Given the description of an element on the screen output the (x, y) to click on. 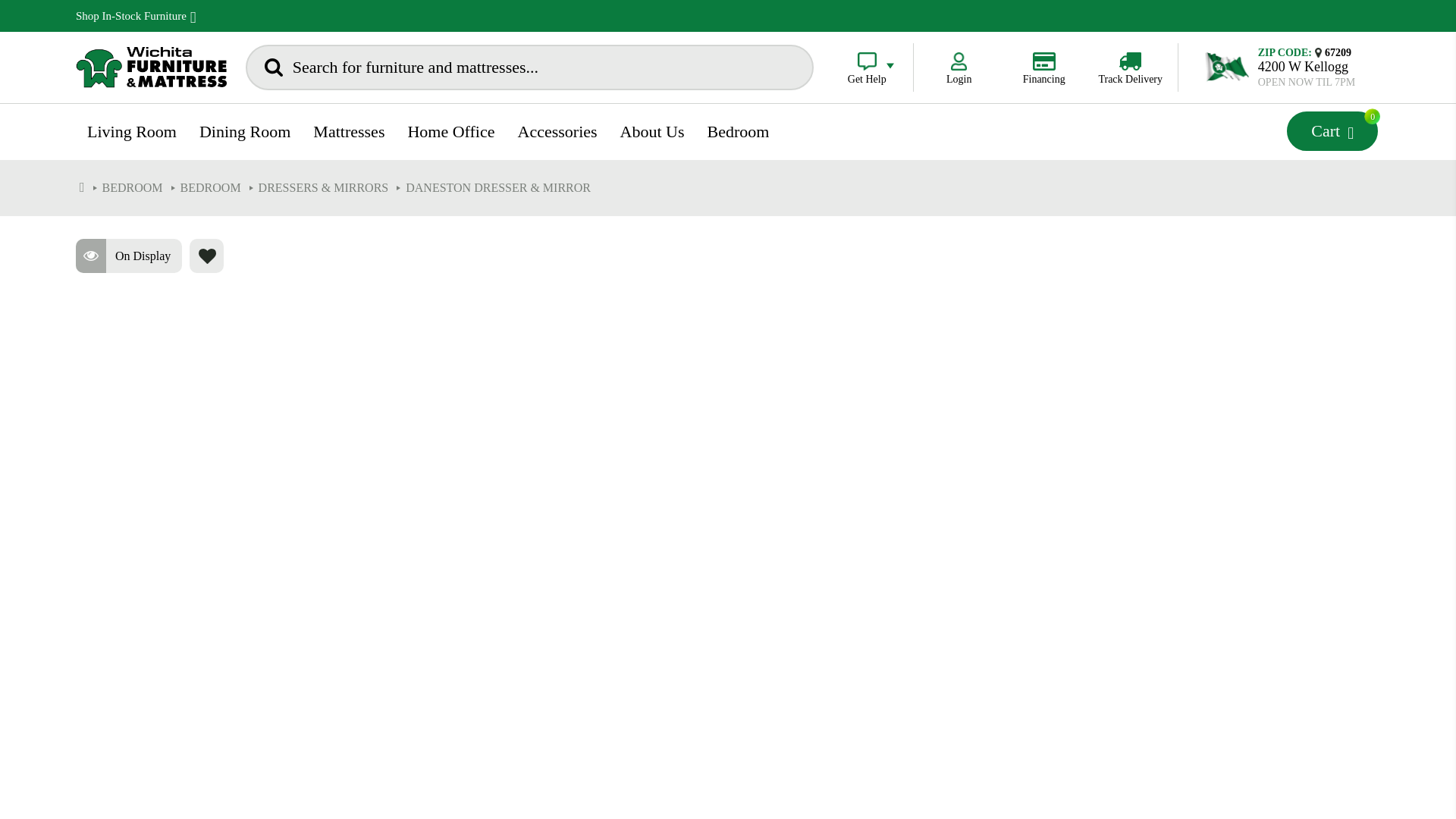
Dining Room (1279, 67)
Get Help (244, 131)
Shop In-Stock Furniture (866, 67)
Track Delivery (135, 15)
Search (1130, 67)
Financing (273, 67)
Search (1332, 130)
Login (1043, 67)
